Given the description of an element on the screen output the (x, y) to click on. 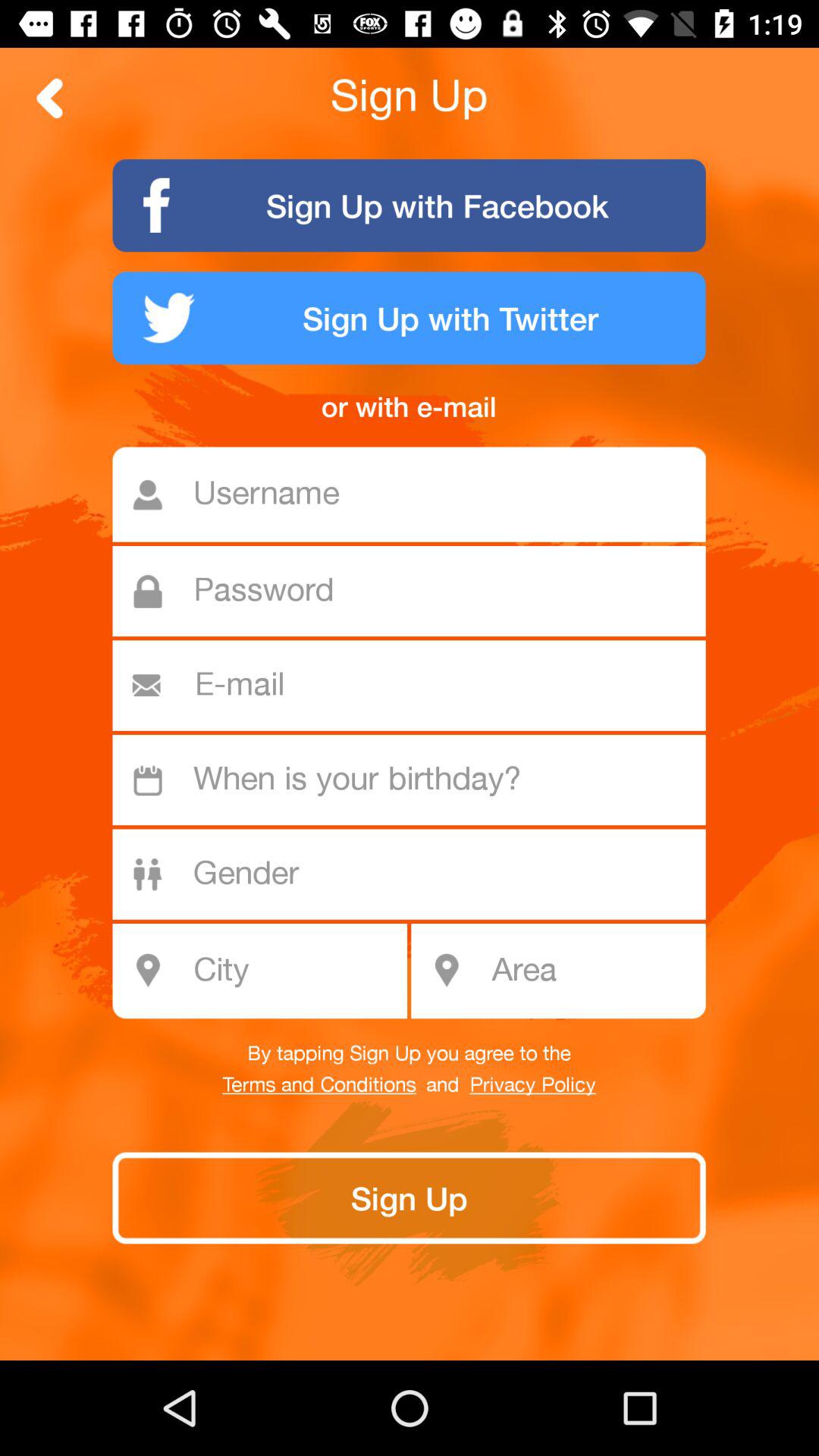
launch the icon to the left of sign up with (50, 98)
